Given the description of an element on the screen output the (x, y) to click on. 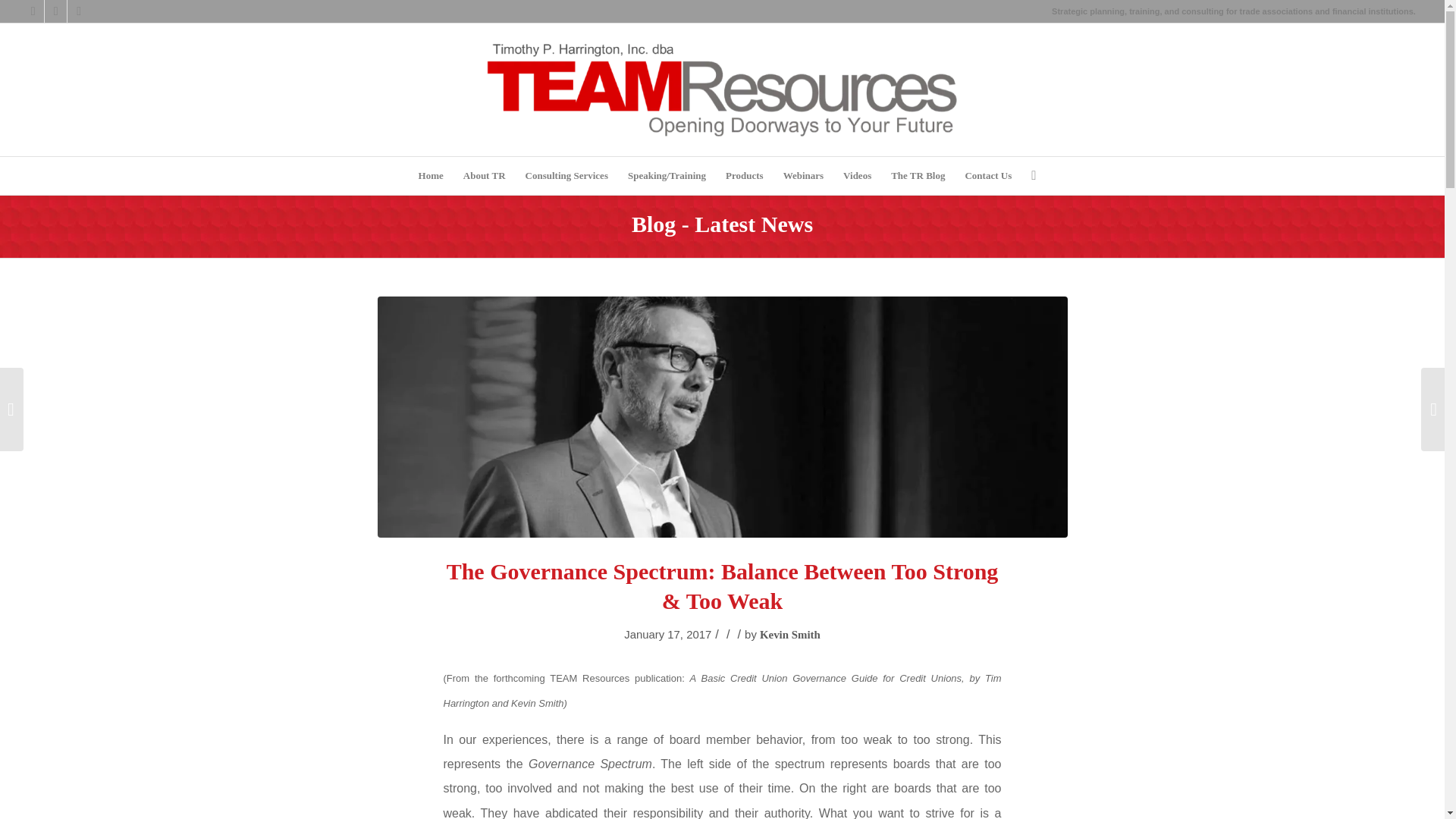
LinkedIn (55, 11)
Products (744, 175)
Team-Resources-Logo-2020 (721, 89)
Videos (856, 175)
Youtube (78, 11)
Consulting Services (566, 175)
Posts by Kevin Smith (790, 634)
About TR (483, 175)
Permanent Link: Blog - Latest News (721, 223)
Webinars (802, 175)
